Given the description of an element on the screen output the (x, y) to click on. 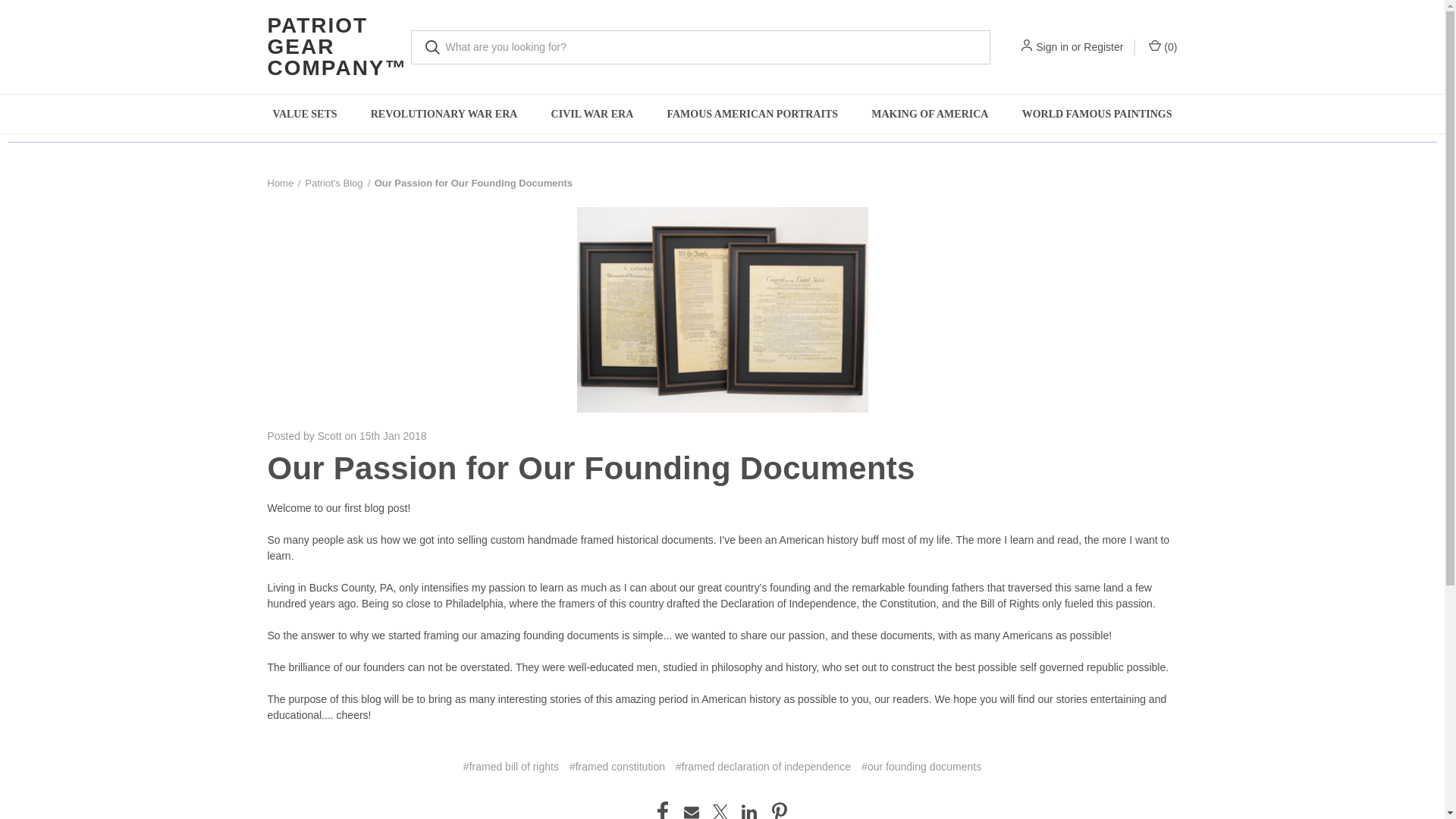
Our Passion for Our Founding Documents (590, 468)
Home (280, 183)
FAMOUS AMERICAN PORTRAITS (751, 114)
VALUE SETS (304, 114)
Our Passion for Our Founding Documents (473, 183)
Patriot's Blog (333, 183)
MAKING OF AMERICA (929, 114)
Register (1102, 47)
Our Passion for Our Founding Documents (721, 309)
Sign in (1051, 47)
